Given the description of an element on the screen output the (x, y) to click on. 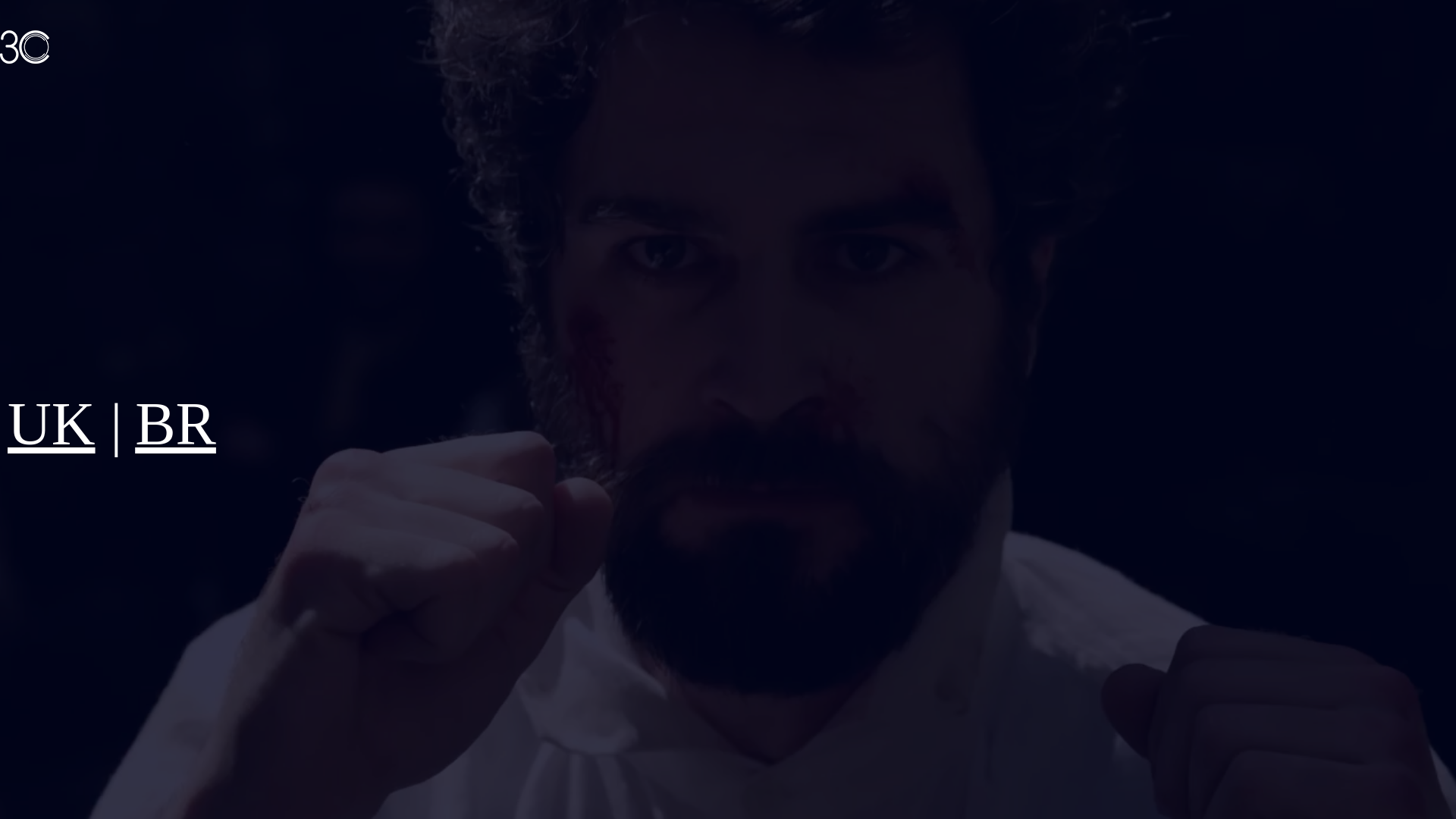
UK Element type: text (51, 423)
BR Element type: text (175, 423)
